Given the description of an element on the screen output the (x, y) to click on. 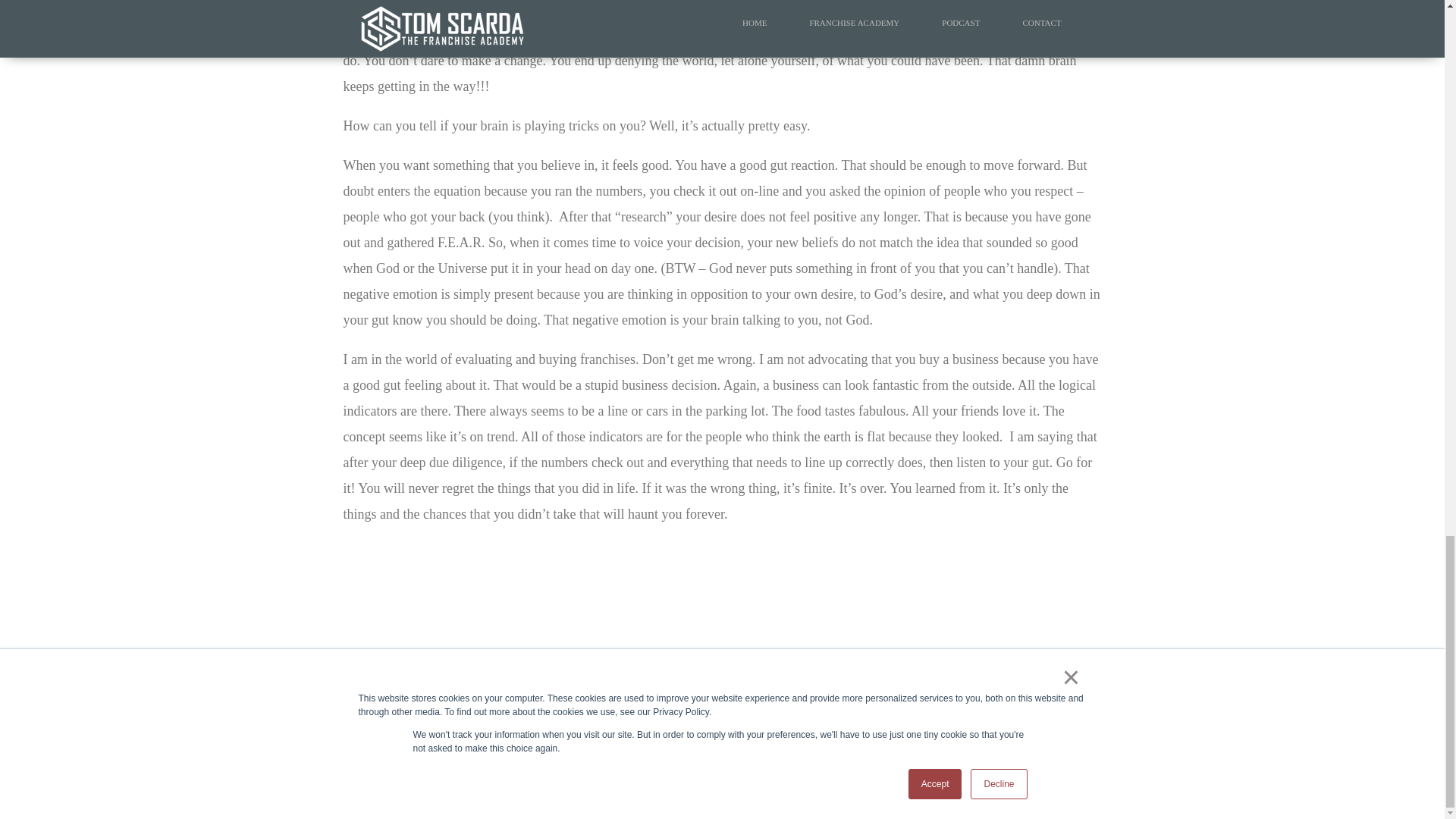
Schedule Time with Tom Scarda (693, 671)
2019 Franchise Trends (413, 778)
TSPNG copywhite (969, 706)
Franchise Flops: What failed and why (450, 753)
thefranchiseacademy.com (699, 710)
